Given the description of an element on the screen output the (x, y) to click on. 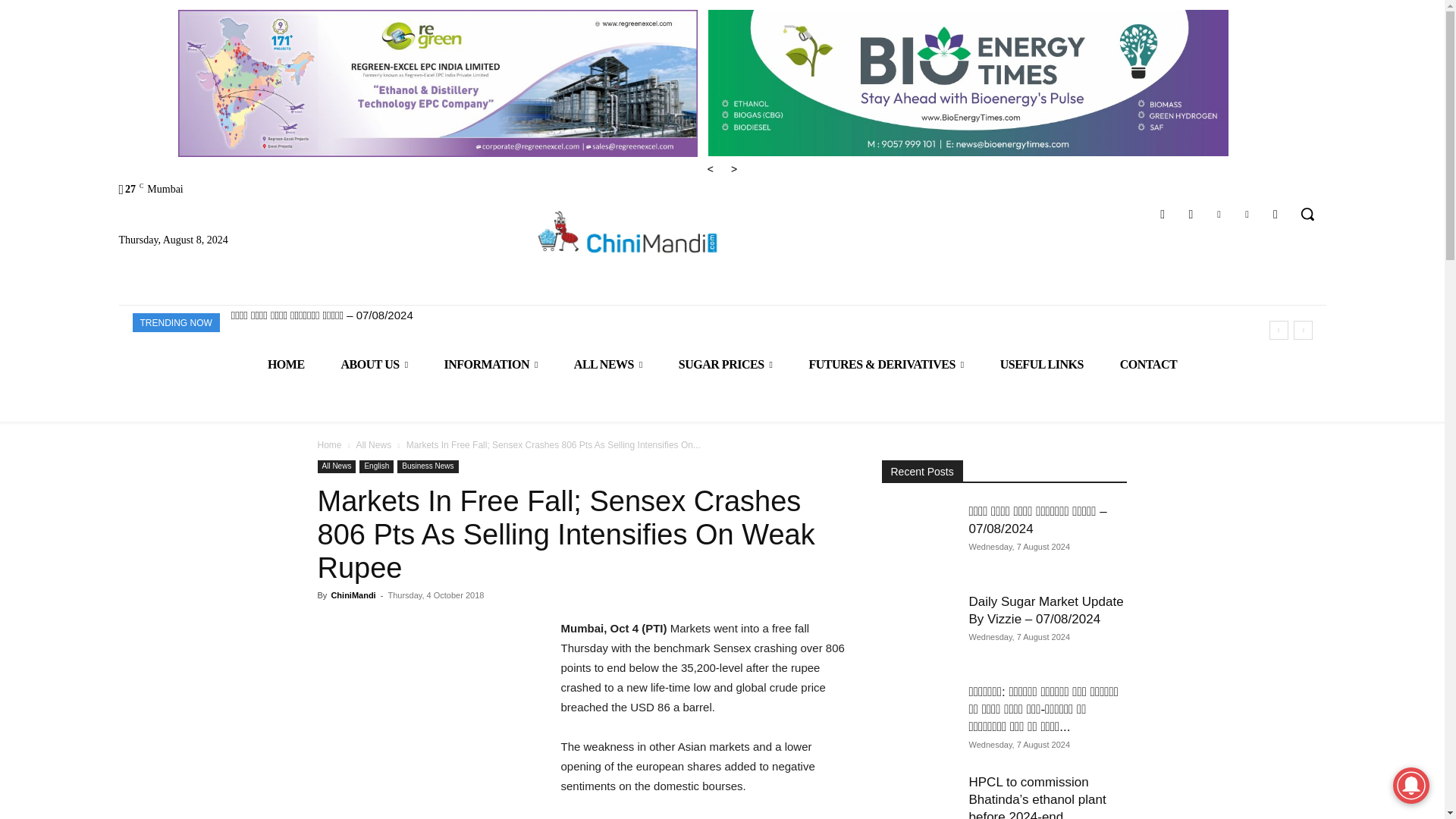
Instagram (1190, 213)
Twitter (1246, 213)
Youtube (1275, 213)
Facebook (1163, 213)
Linkedin (1218, 213)
